Given the description of an element on the screen output the (x, y) to click on. 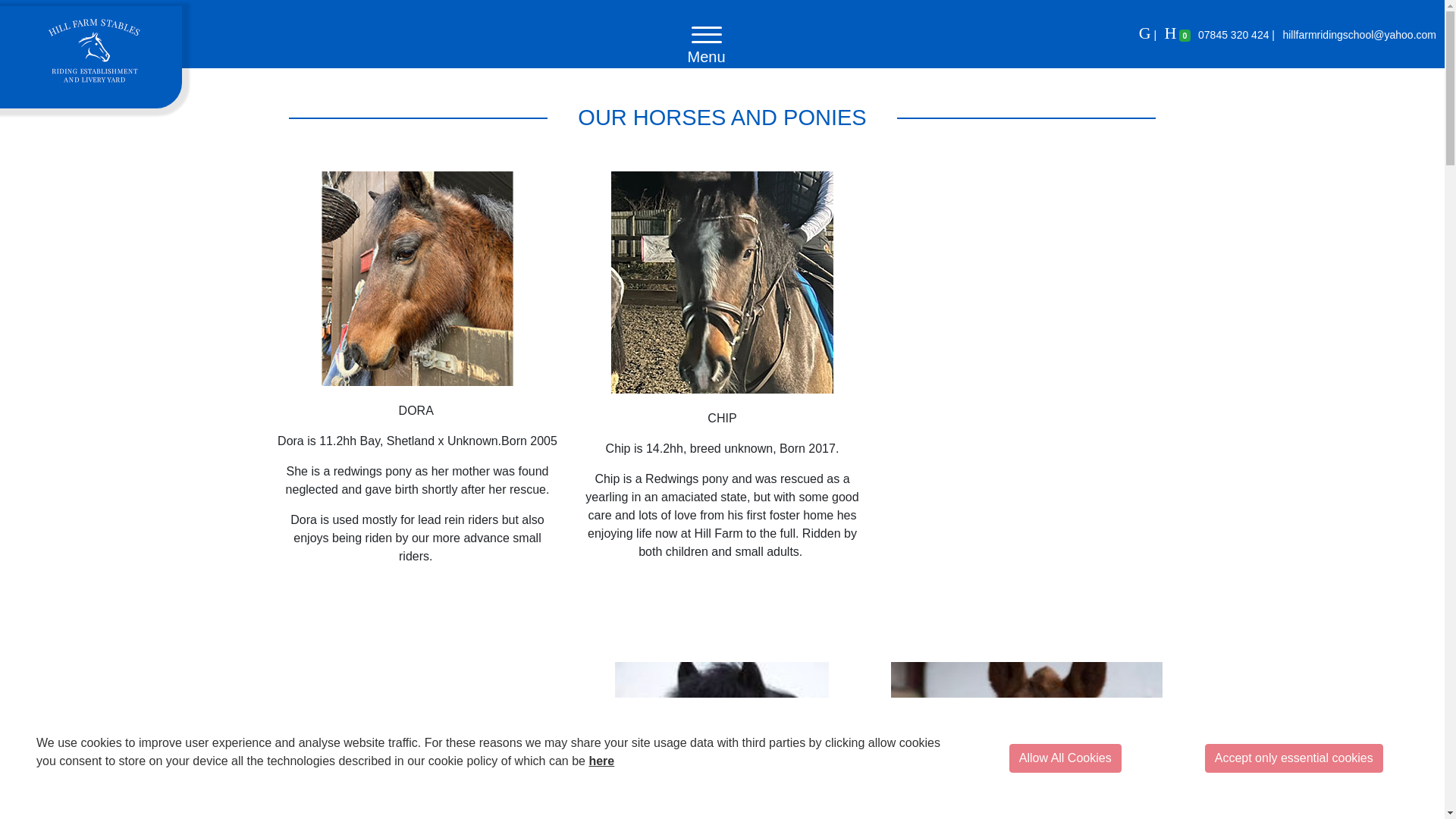
Allow All Cookies (1065, 758)
here (601, 760)
H 0 (1177, 34)
Accept only essential cookies (1294, 758)
